Given the description of an element on the screen output the (x, y) to click on. 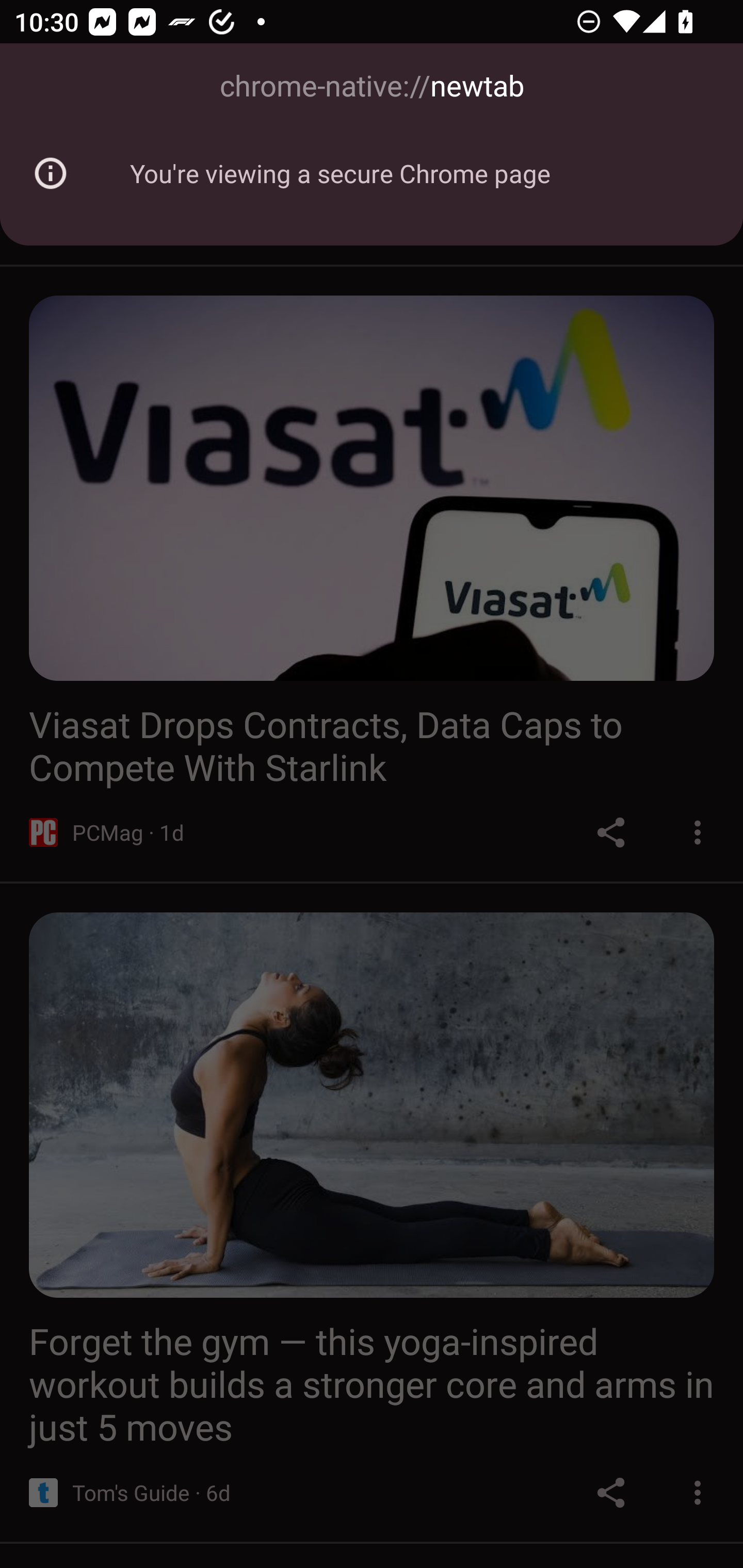
chrome-native://newtab (371, 86)
